Given the description of an element on the screen output the (x, y) to click on. 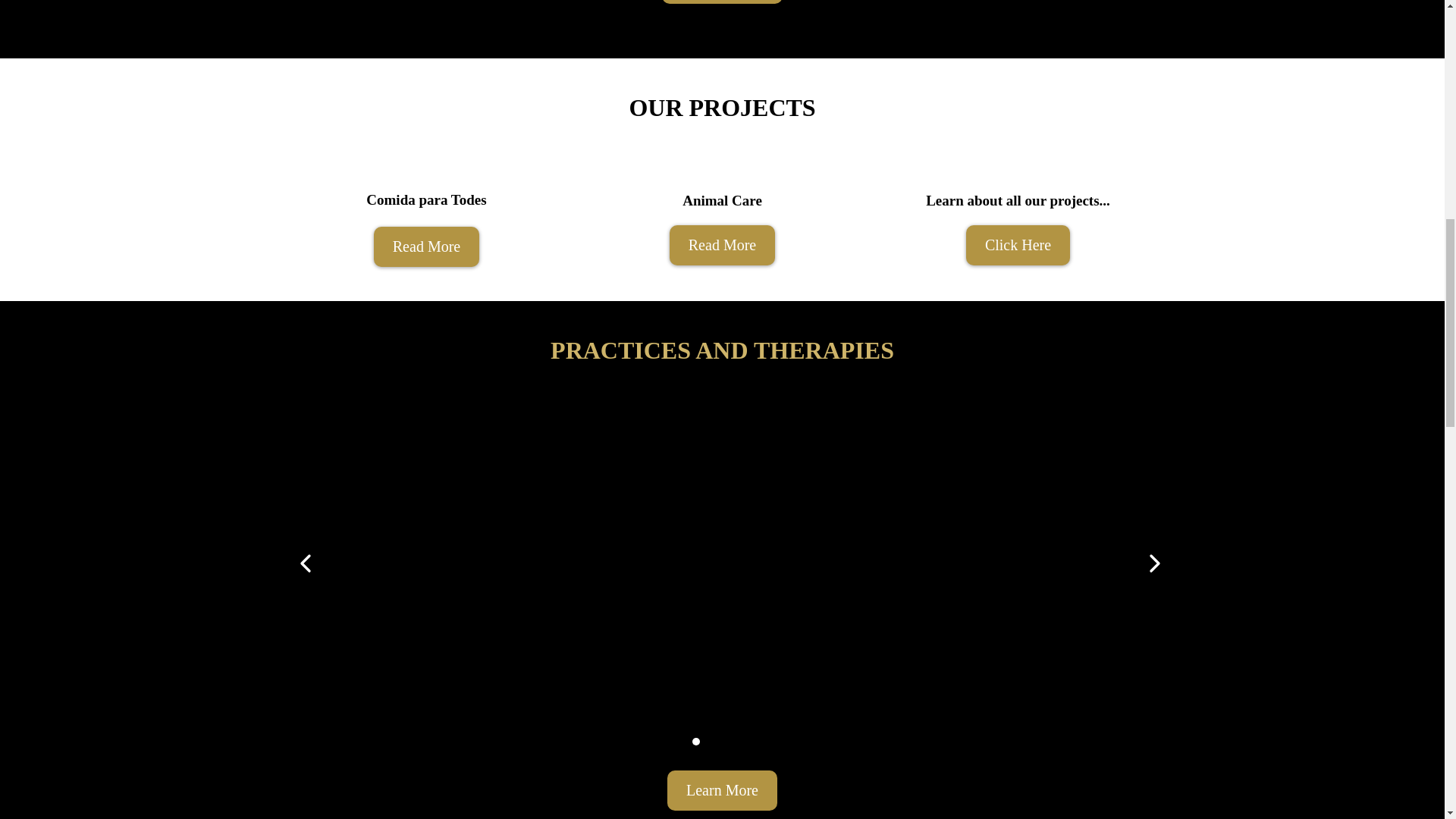
Click Here (1018, 245)
Read More (721, 245)
Learn More (721, 790)
Read More (426, 246)
ABOUT US (722, 2)
